Given the description of an element on the screen output the (x, y) to click on. 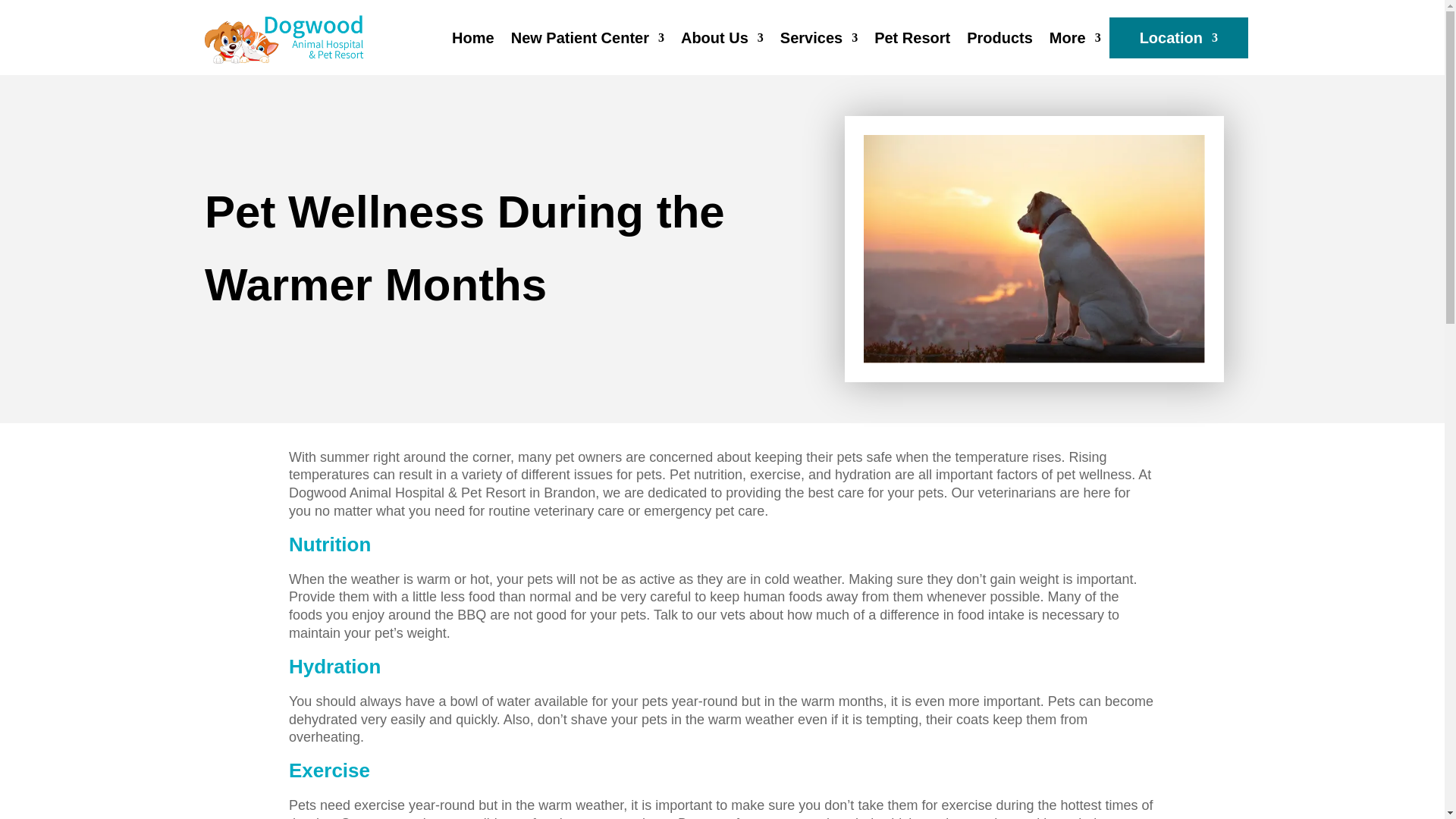
Pet Wellness During the Warmer Months (1034, 249)
Products (999, 36)
About Us (721, 36)
Services (818, 36)
New Patient Center (587, 36)
More (1074, 36)
Home (473, 36)
Location (1178, 36)
Pet Resort (912, 36)
